Given the description of an element on the screen output the (x, y) to click on. 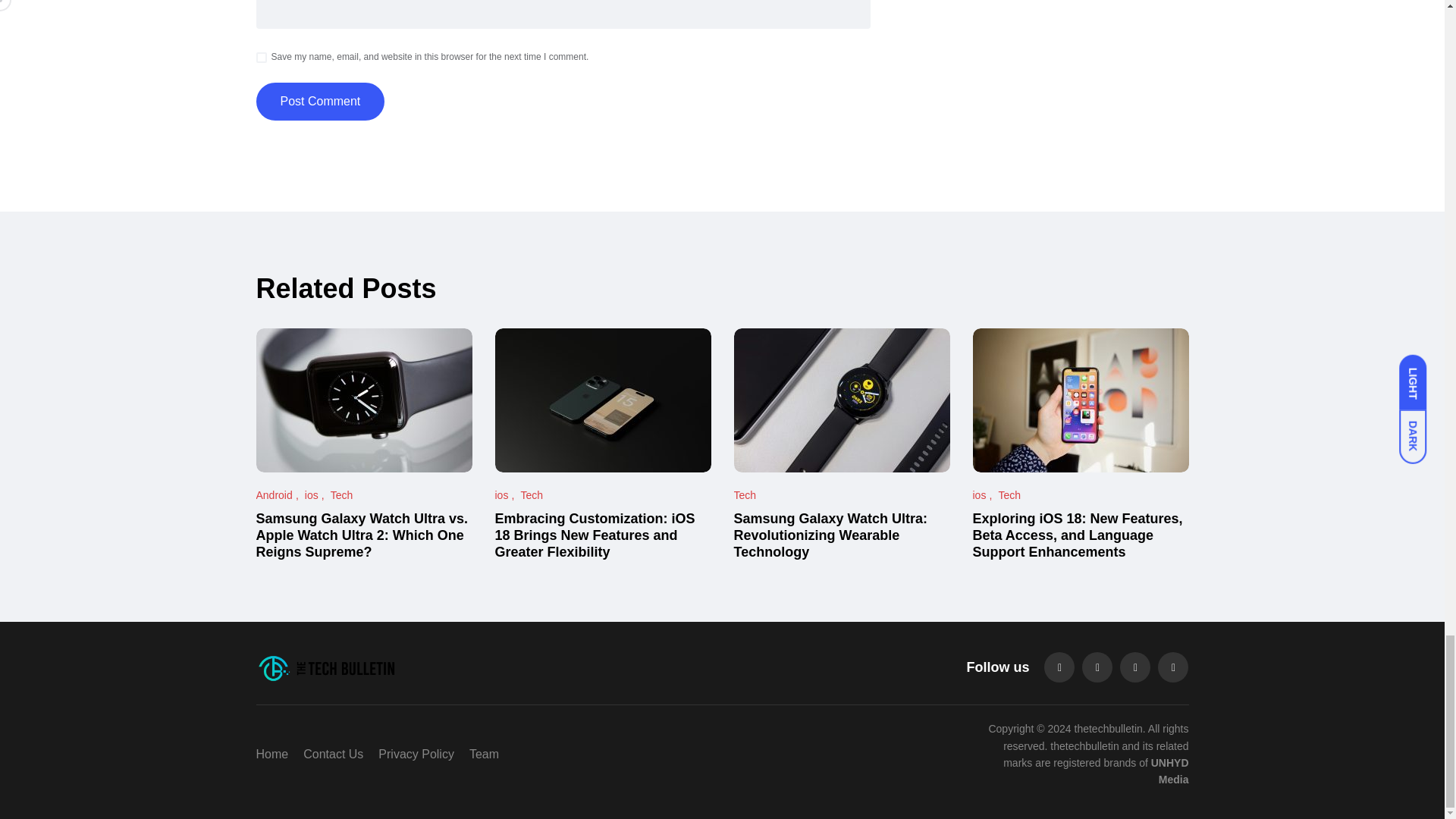
Facebook-f (1058, 666)
Post Comment (320, 101)
Instagram (1172, 666)
The Tech Bulletin (403, 666)
Linkedin-in (1134, 666)
Post Comment (320, 101)
Twitter (1096, 666)
